Given the description of an element on the screen output the (x, y) to click on. 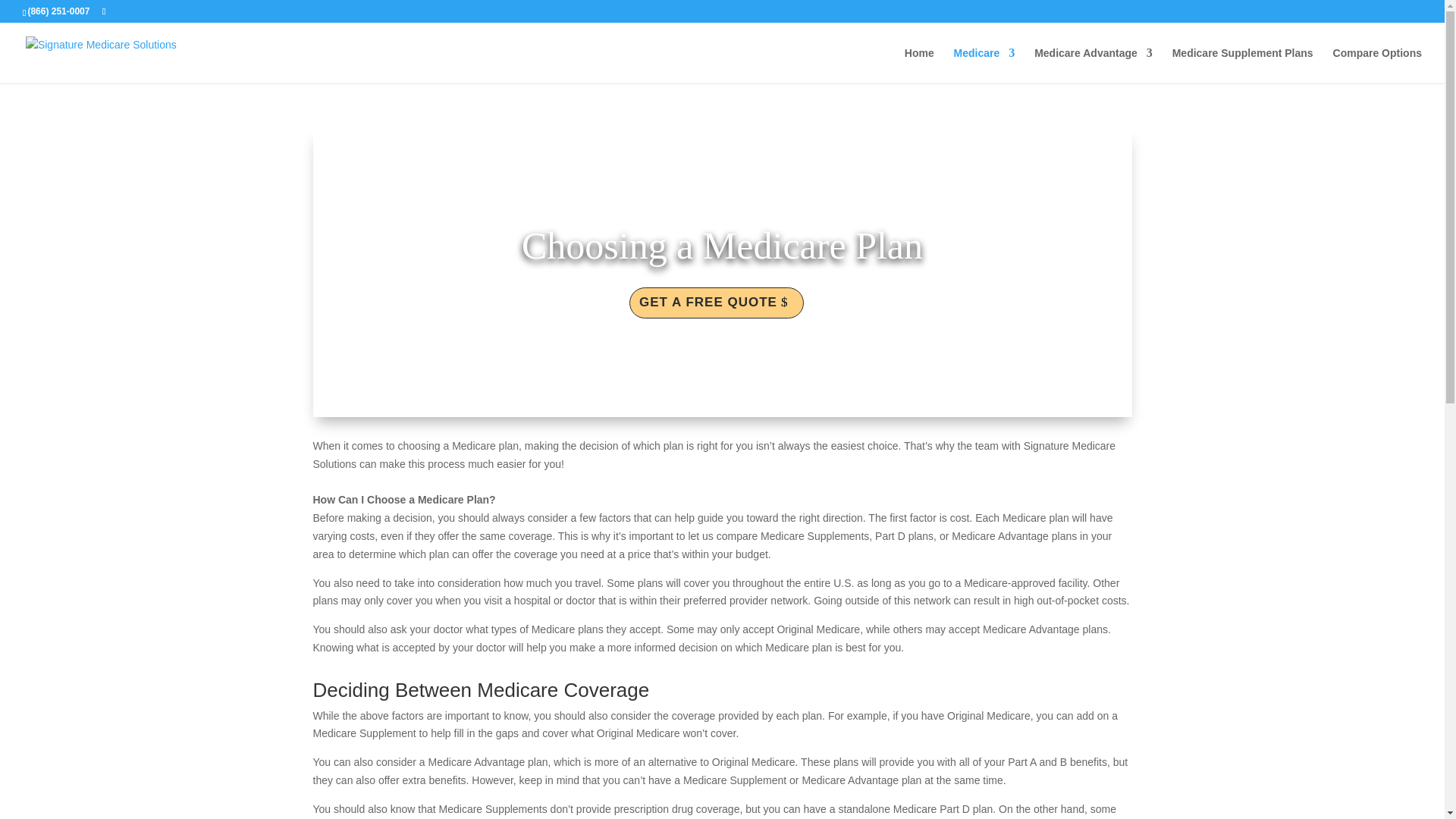
Medicare (983, 65)
Medicare Supplement Plans (1242, 65)
Medicare Advantage (1093, 65)
Compare Options (1377, 65)
GET A FREE QUOTE (715, 302)
